Given the description of an element on the screen output the (x, y) to click on. 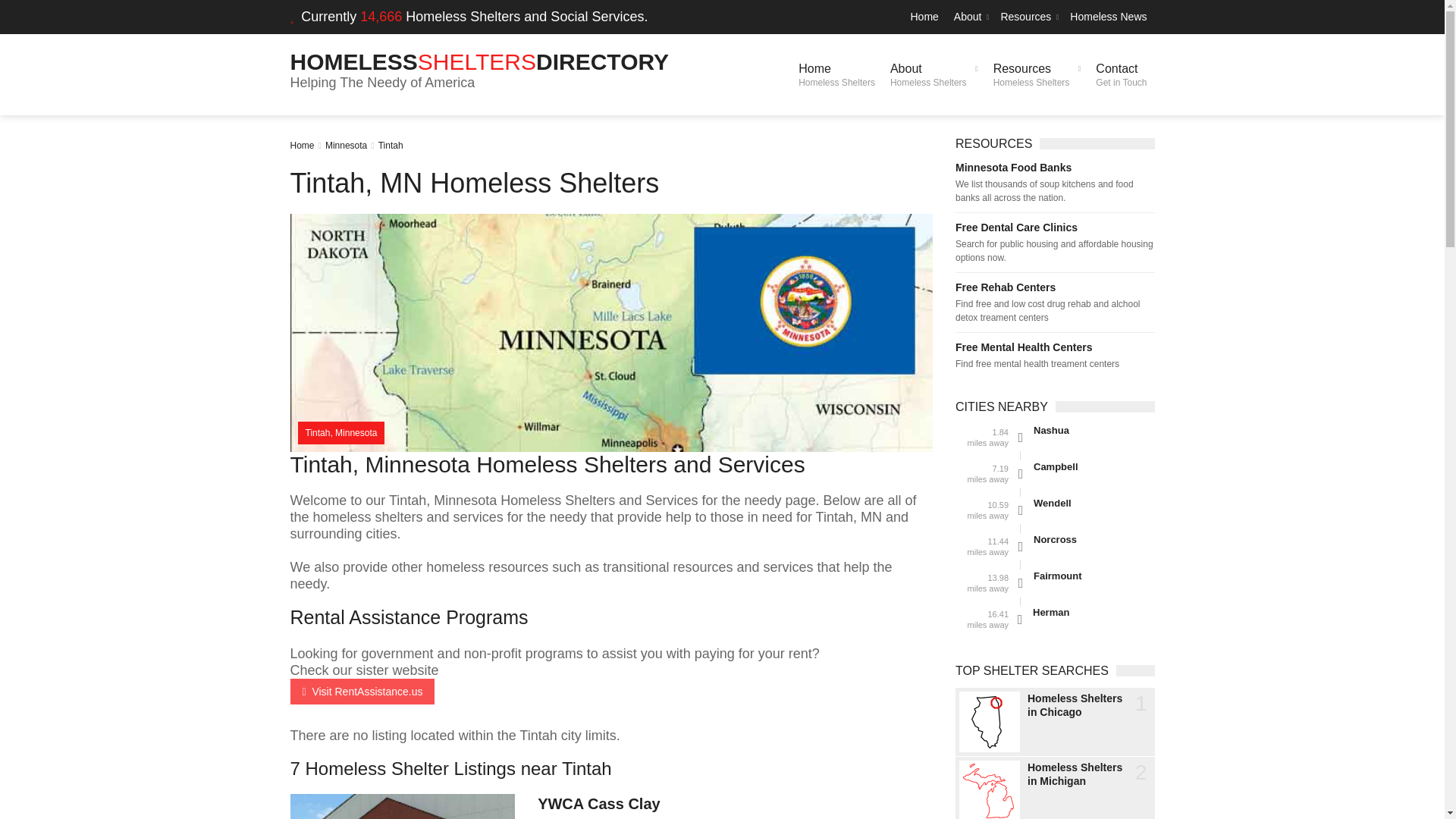
Tintah (836, 74)
Resources (390, 145)
HOMELESSSHELTERSDIRECTORY (933, 74)
  Visit RentAssistance.us (1027, 17)
Minnesota (478, 61)
Home (1120, 74)
Home (361, 691)
Homeless News (345, 145)
About (301, 145)
YWCA Cass Clay (923, 17)
